Given the description of an element on the screen output the (x, y) to click on. 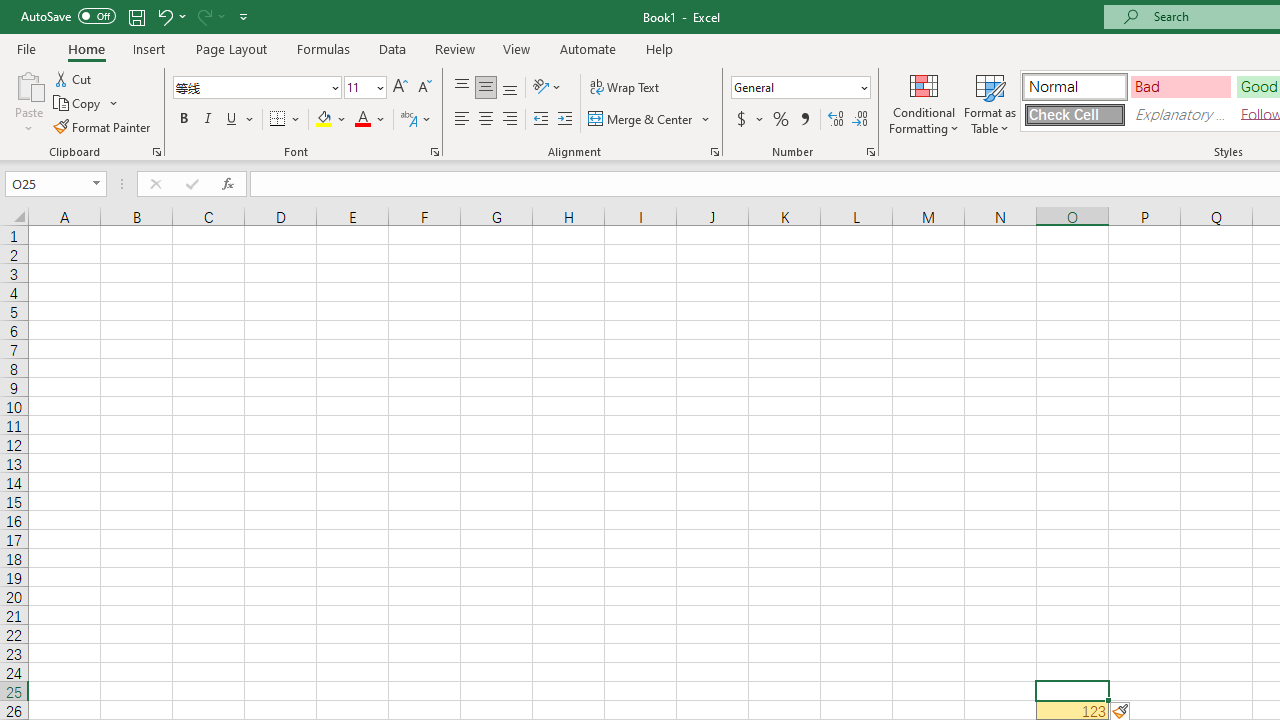
Center (485, 119)
Format Cell Font (434, 151)
Italic (207, 119)
Office Clipboard... (156, 151)
Font Size (365, 87)
Align Left (461, 119)
Format Cell Alignment (714, 151)
Show Phonetic Field (416, 119)
Insert (149, 48)
Decrease Indent (540, 119)
Bad (1180, 86)
Decrease Decimal (859, 119)
